Given the description of an element on the screen output the (x, y) to click on. 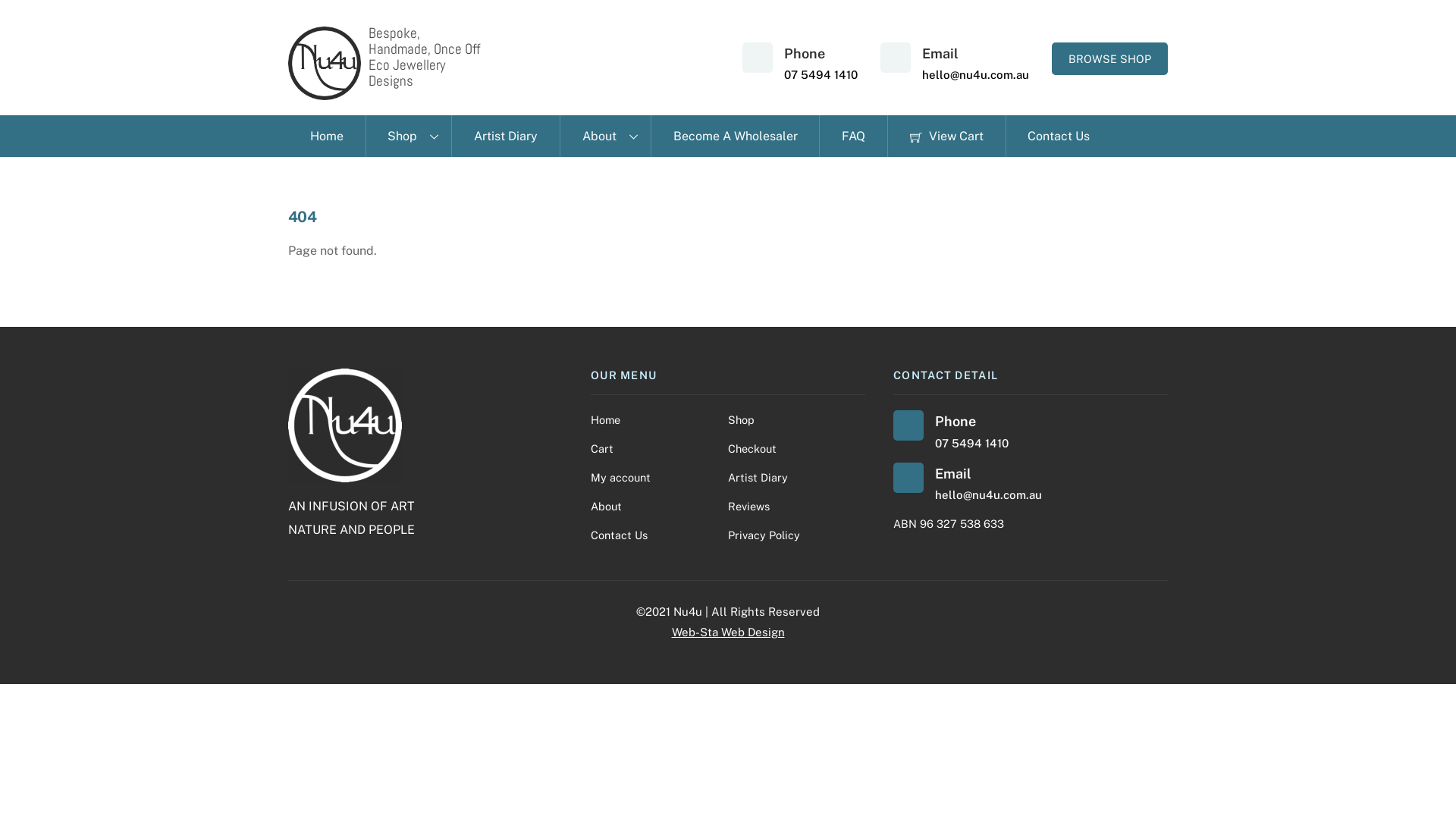
BROWSE SHOP Element type: text (1109, 58)
Contact Us Element type: text (1058, 135)
View Cart Element type: text (946, 135)
07 5494 1410 Element type: text (971, 442)
Artist Diary Element type: text (505, 135)
About Element type: text (604, 135)
Shop Element type: text (741, 419)
Web-Sta Web Design Element type: text (727, 631)
Nu4U Element type: hover (324, 92)
Reviews Element type: text (748, 505)
FAQ Element type: text (853, 135)
Checkout Element type: text (752, 448)
Contact Us Element type: text (618, 534)
About Element type: text (605, 505)
Cart Element type: text (601, 448)
Artist Diary Element type: text (757, 476)
Nu4u Upcycled Homewares Element type: hover (324, 62)
07 5494 1410 Element type: text (820, 74)
Privacy Policy Element type: text (764, 534)
Home Element type: text (326, 135)
hello@nu4u.com.au Element type: text (988, 494)
My account Element type: text (620, 476)
Become A Wholesaler Element type: text (734, 135)
hello@nu4u.com.au Element type: text (975, 74)
Shop Element type: text (408, 135)
Home Element type: text (605, 419)
